Given the description of an element on the screen output the (x, y) to click on. 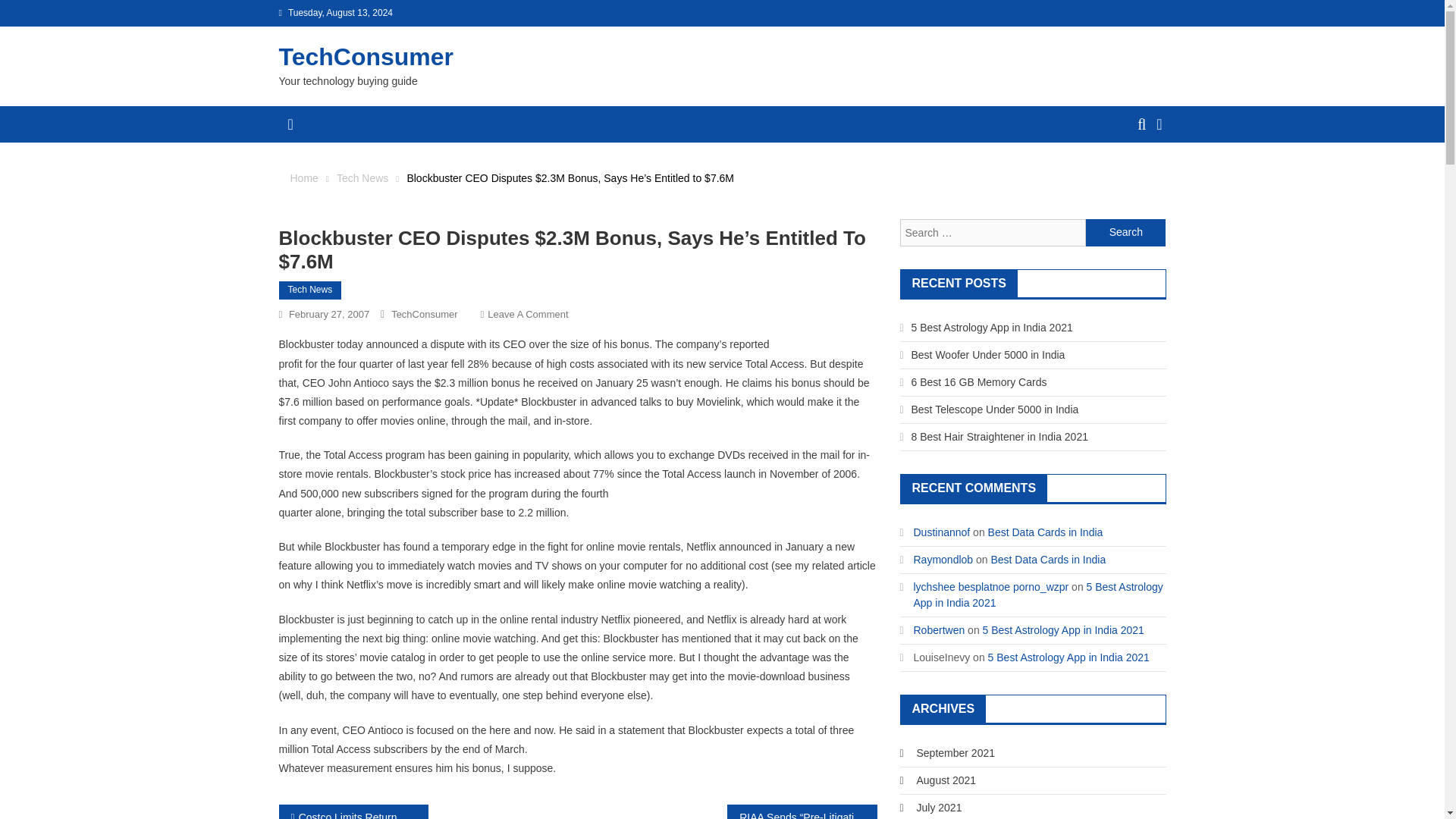
Home (303, 177)
Best Telescope Under 5000 in India (994, 409)
Search (1126, 232)
TechConsumer (366, 56)
6 Best 16 GB Memory Cards (978, 381)
Search (1133, 180)
February 27, 2007 (328, 314)
Tech News (362, 177)
TechConsumer (424, 314)
